Given the description of an element on the screen output the (x, y) to click on. 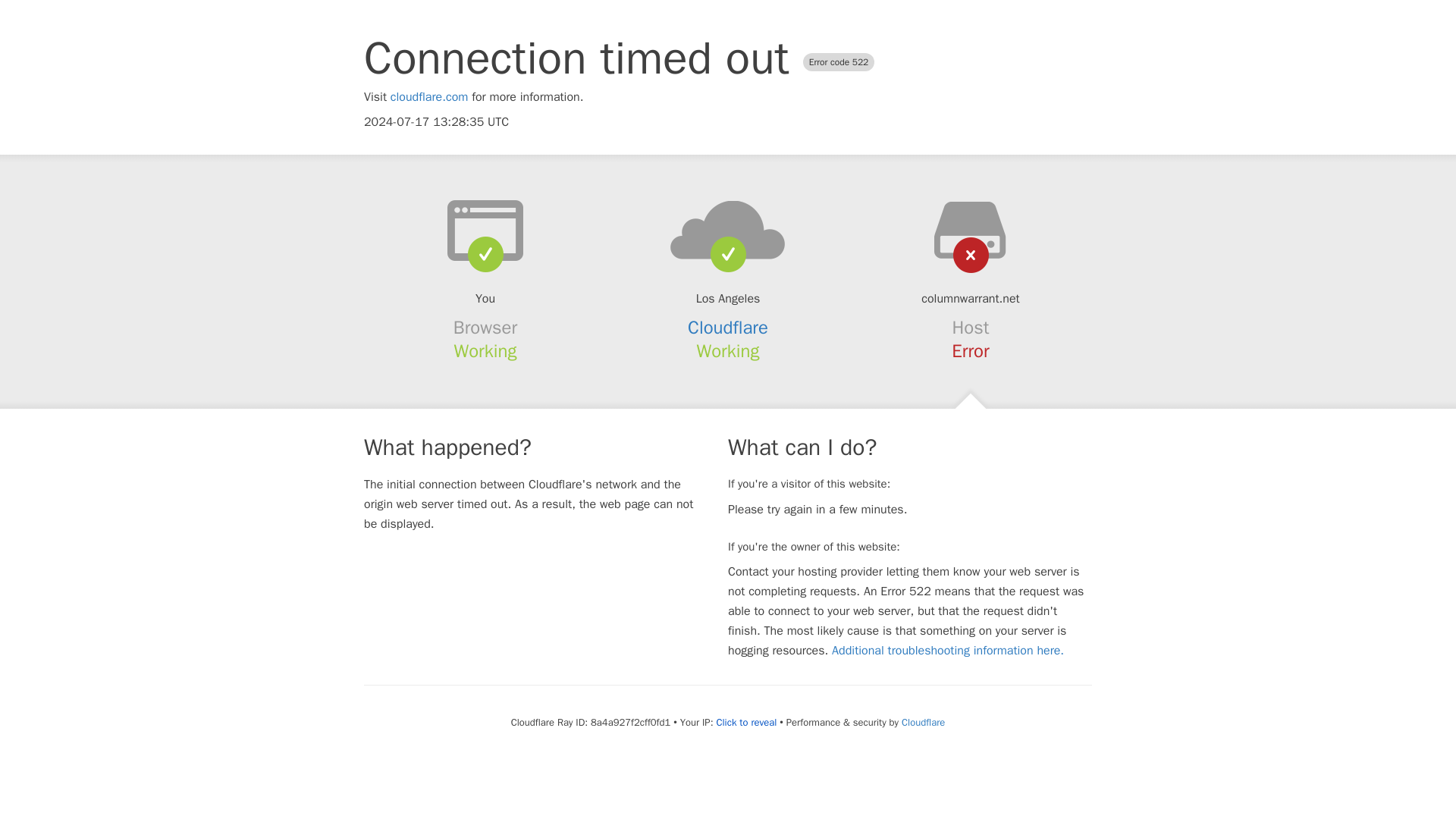
Cloudflare (727, 327)
Additional troubleshooting information here. (947, 650)
Click to reveal (746, 722)
Cloudflare (922, 721)
cloudflare.com (429, 96)
